Given the description of an element on the screen output the (x, y) to click on. 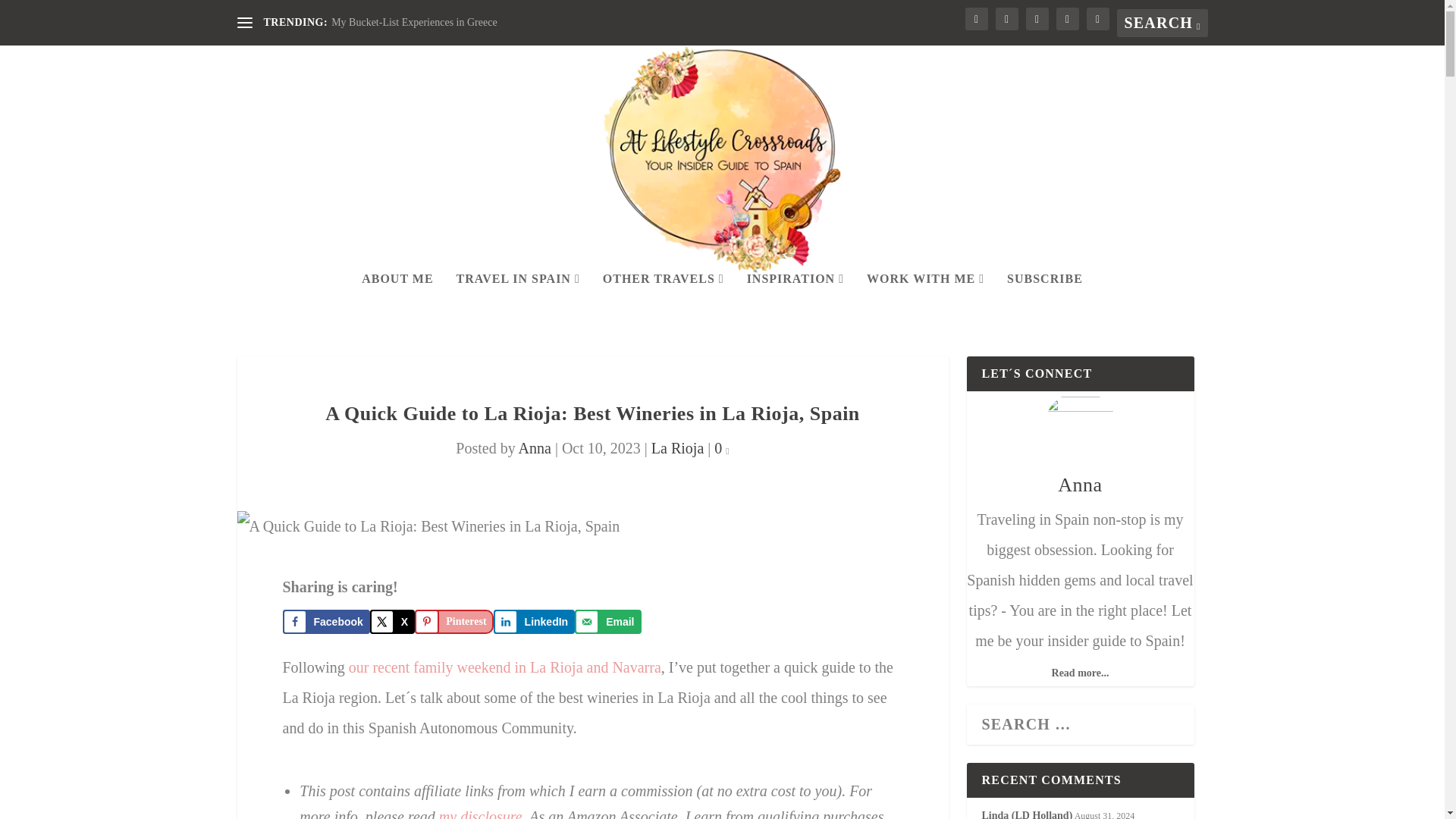
OTHER TRAVELS (662, 298)
SUBSCRIBE (1045, 298)
ABOUT ME (396, 298)
Save to Pinterest (453, 621)
Share on Facebook (325, 621)
Search for: (1161, 22)
Share on X (391, 621)
Facebook (325, 621)
La Rioja (676, 447)
INSPIRATION (795, 298)
